Given the description of an element on the screen output the (x, y) to click on. 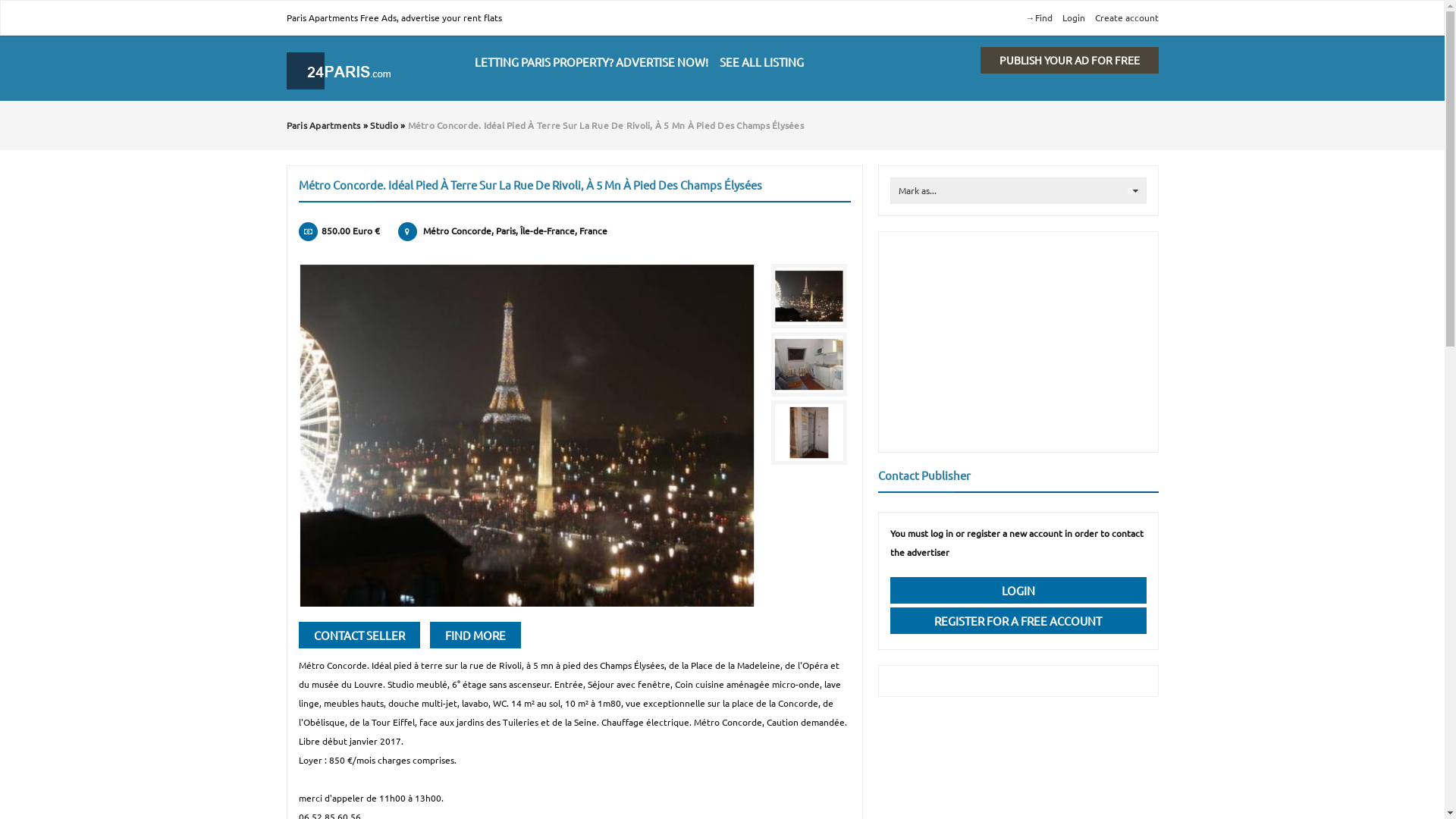
Paris Apartments Element type: text (323, 125)
Image 2 / 3 Element type: hover (809, 364)
Image 1 / 3 Element type: hover (809, 295)
Login Element type: text (1072, 17)
LOGIN Element type: text (1018, 590)
Create account Element type: text (1126, 17)
Image 3 / 3 Element type: hover (809, 432)
SEE ALL LISTING Element type: text (760, 61)
FIND MORE Element type: text (474, 634)
Advertisement Element type: hover (1018, 341)
Studio Element type: text (384, 125)
REGISTER FOR A FREE ACCOUNT Element type: text (1018, 620)
Image 1 / 3 Element type: hover (527, 434)
CONTACT SELLER Element type: text (359, 634)
LETTING PARIS PROPERTY? ADVERTISE NOW! Element type: text (591, 61)
PUBLISH YOUR AD FOR FREE Element type: text (1068, 60)
